Given the description of an element on the screen output the (x, y) to click on. 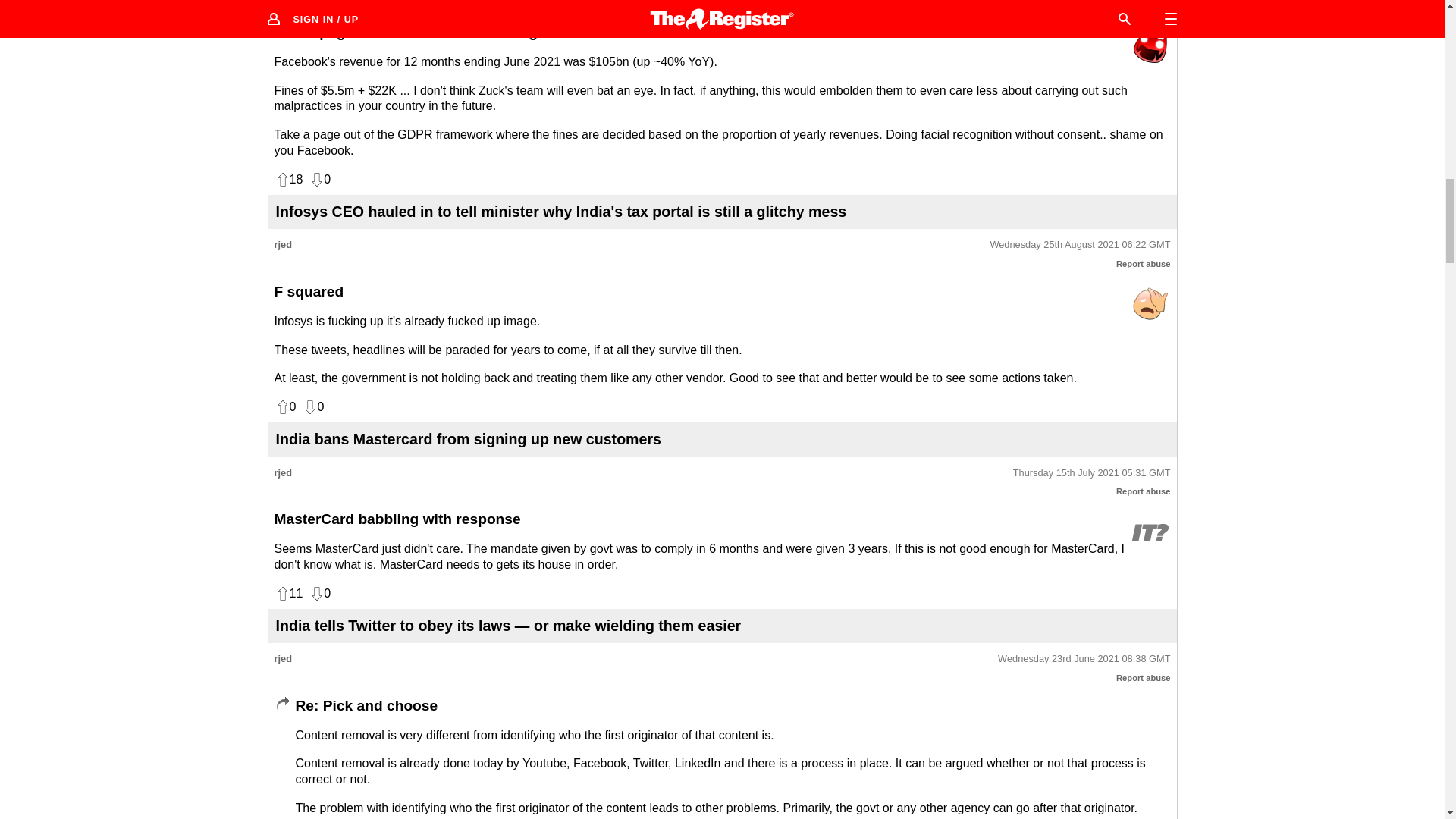
Report abuse (1143, 4)
Report abuse (1143, 677)
Report abuse (1143, 491)
Report abuse (1143, 263)
